Given the description of an element on the screen output the (x, y) to click on. 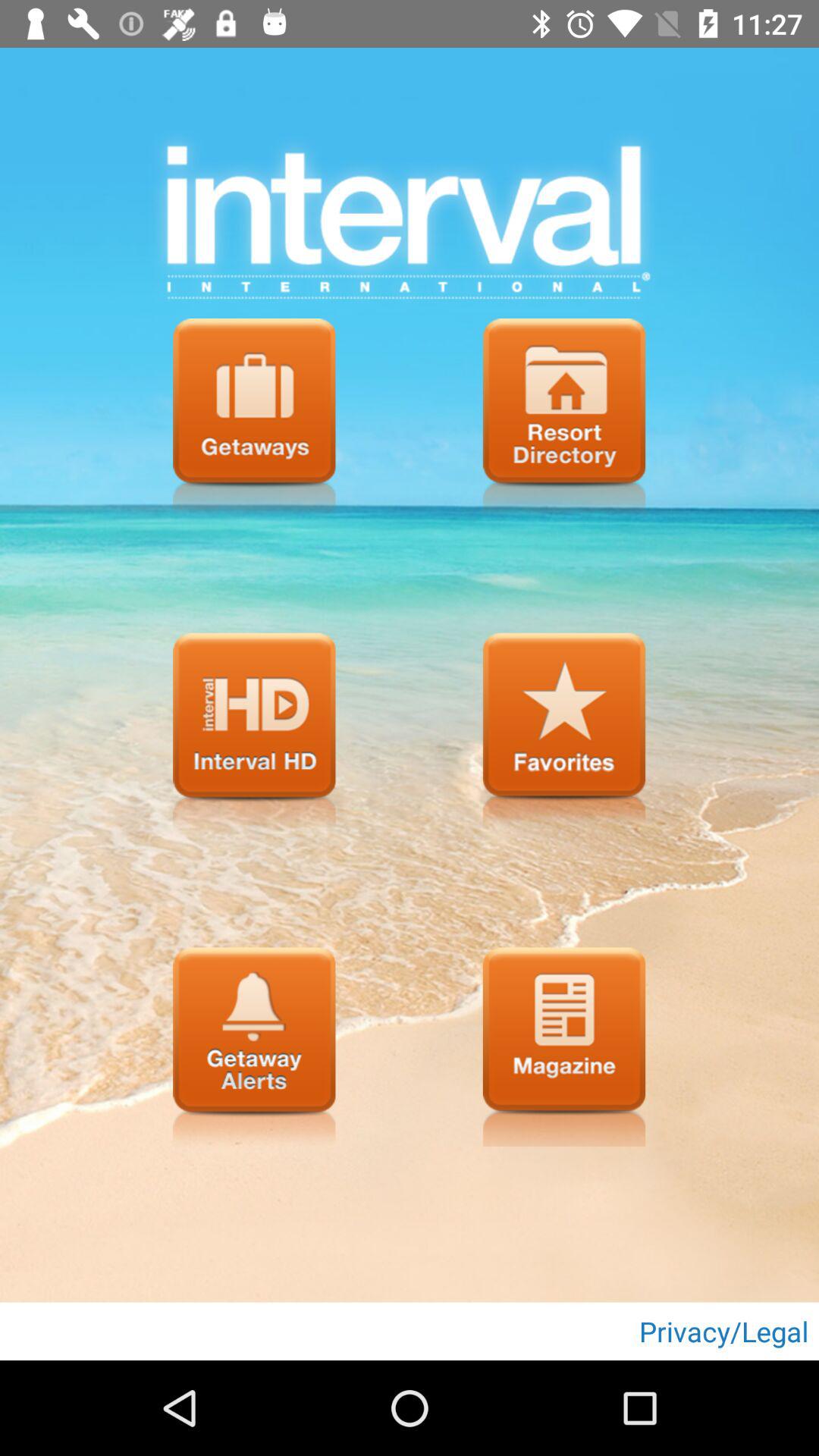
magazine option (563, 1046)
